Given the description of an element on the screen output the (x, y) to click on. 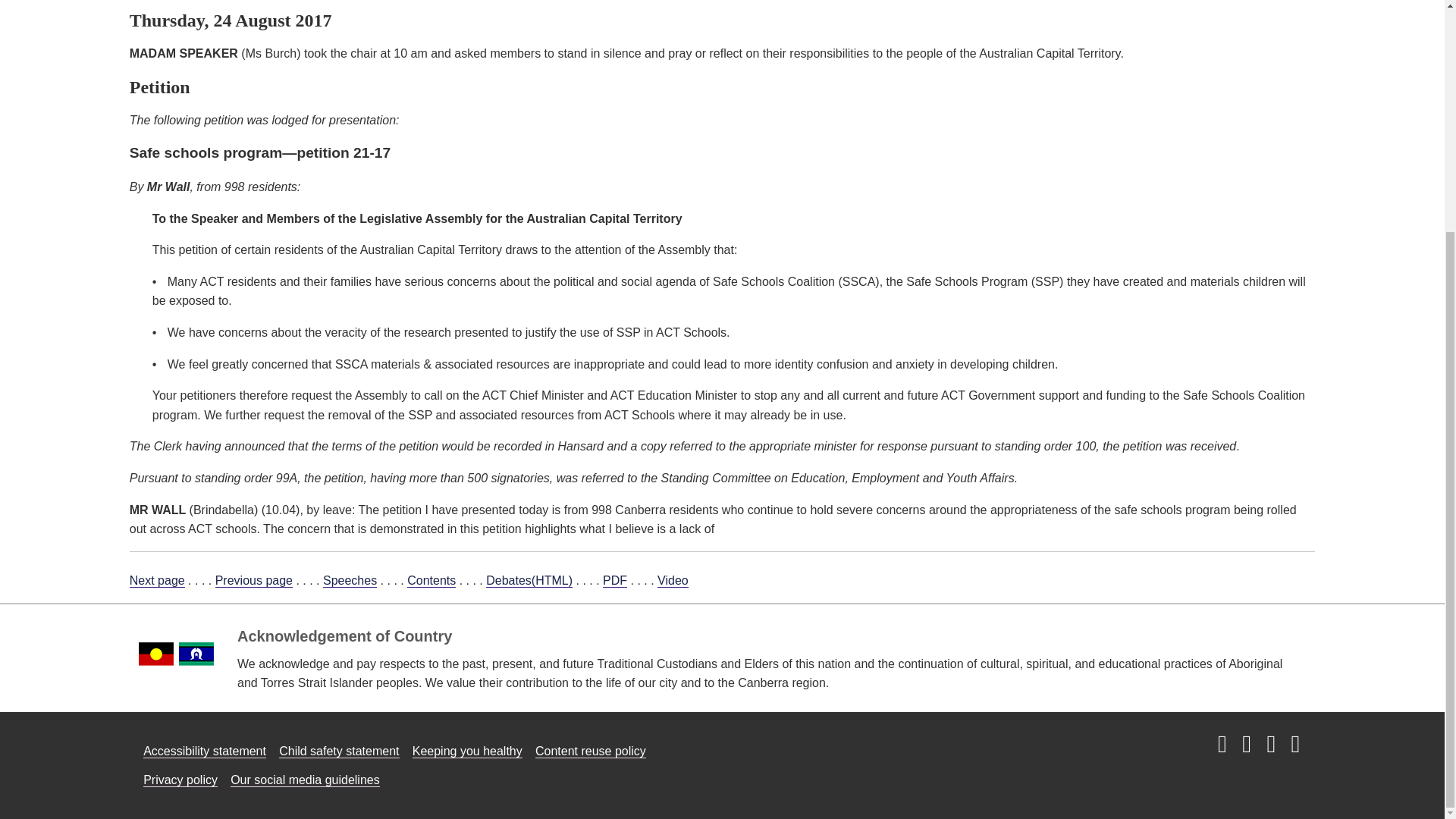
Speeches (350, 581)
Keeping you healthy (467, 751)
Read our access and inclusion statement (204, 751)
Read our social media guidelines (305, 780)
Video (673, 581)
Child safety statement (338, 751)
Previous page (253, 581)
Content reuse policy (590, 751)
Accessibility statement (204, 751)
Contents (431, 581)
